Given the description of an element on the screen output the (x, y) to click on. 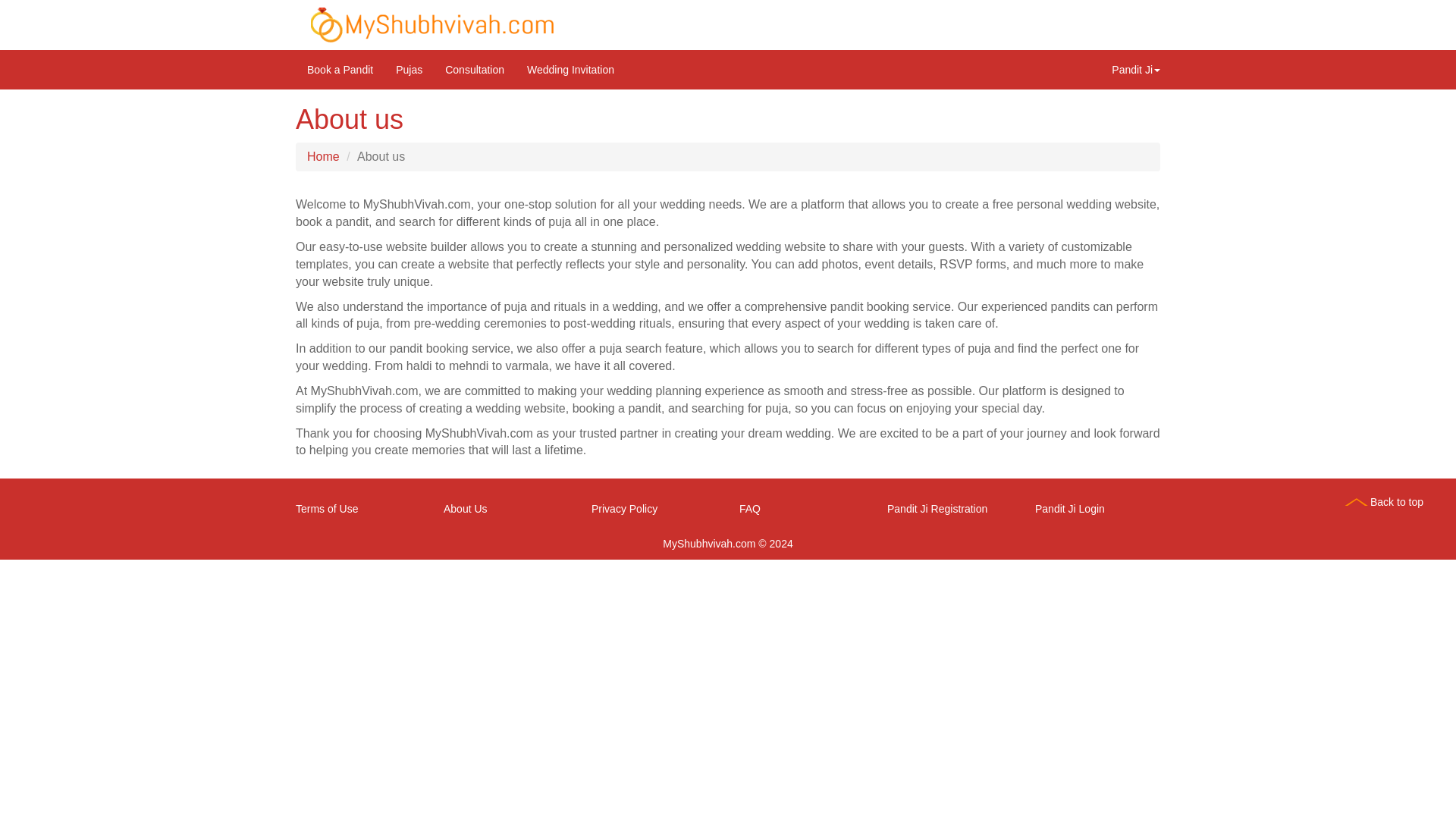
Consultation (474, 69)
Pandit Ji (1136, 69)
Book a Pandit (339, 69)
Home (323, 155)
Pujas (408, 69)
Wedding Invitation (570, 69)
